Given the description of an element on the screen output the (x, y) to click on. 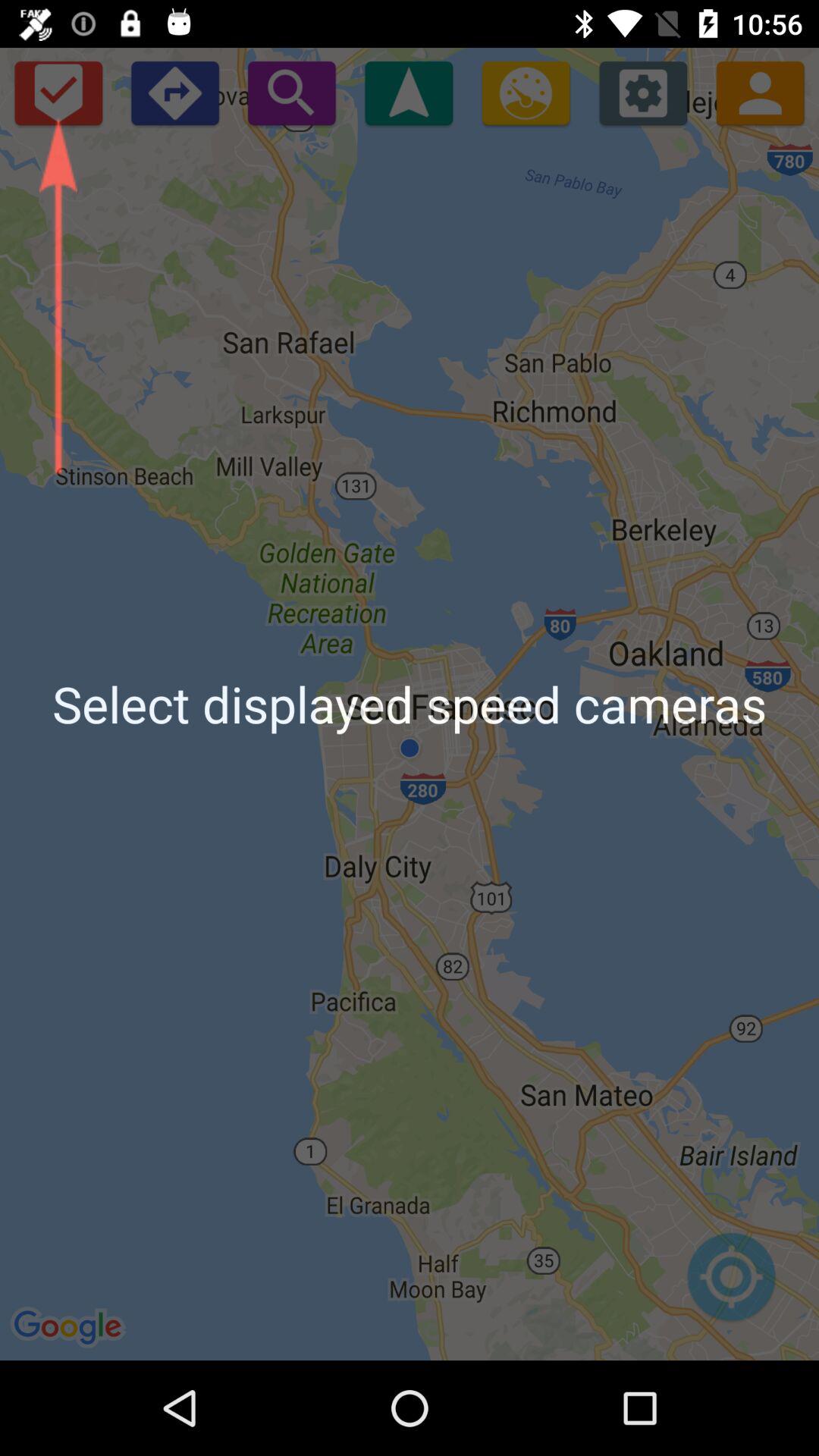
select displayed speed cameras (408, 92)
